Given the description of an element on the screen output the (x, y) to click on. 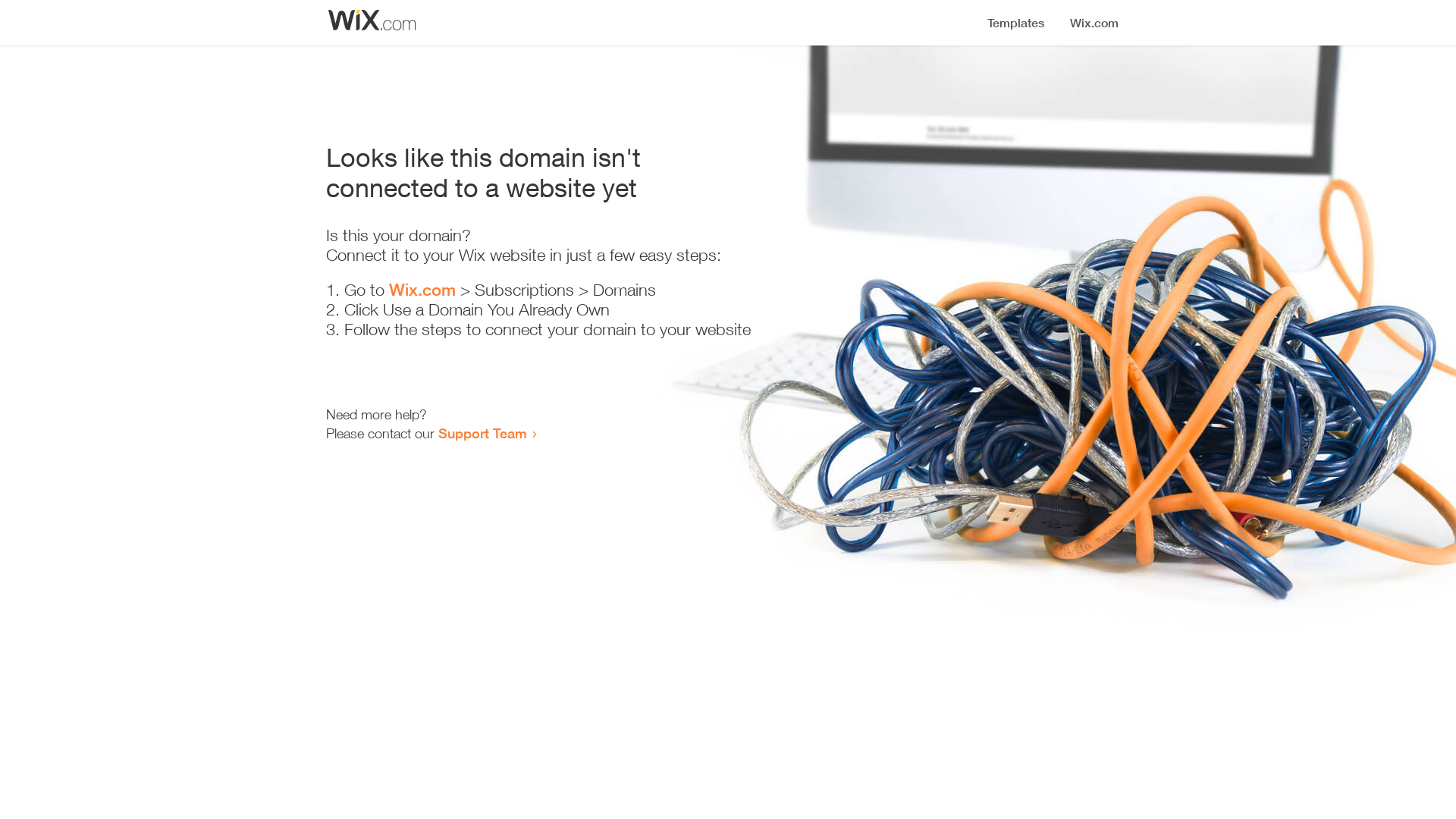
Support Team Element type: text (482, 432)
Wix.com Element type: text (422, 289)
